Given the description of an element on the screen output the (x, y) to click on. 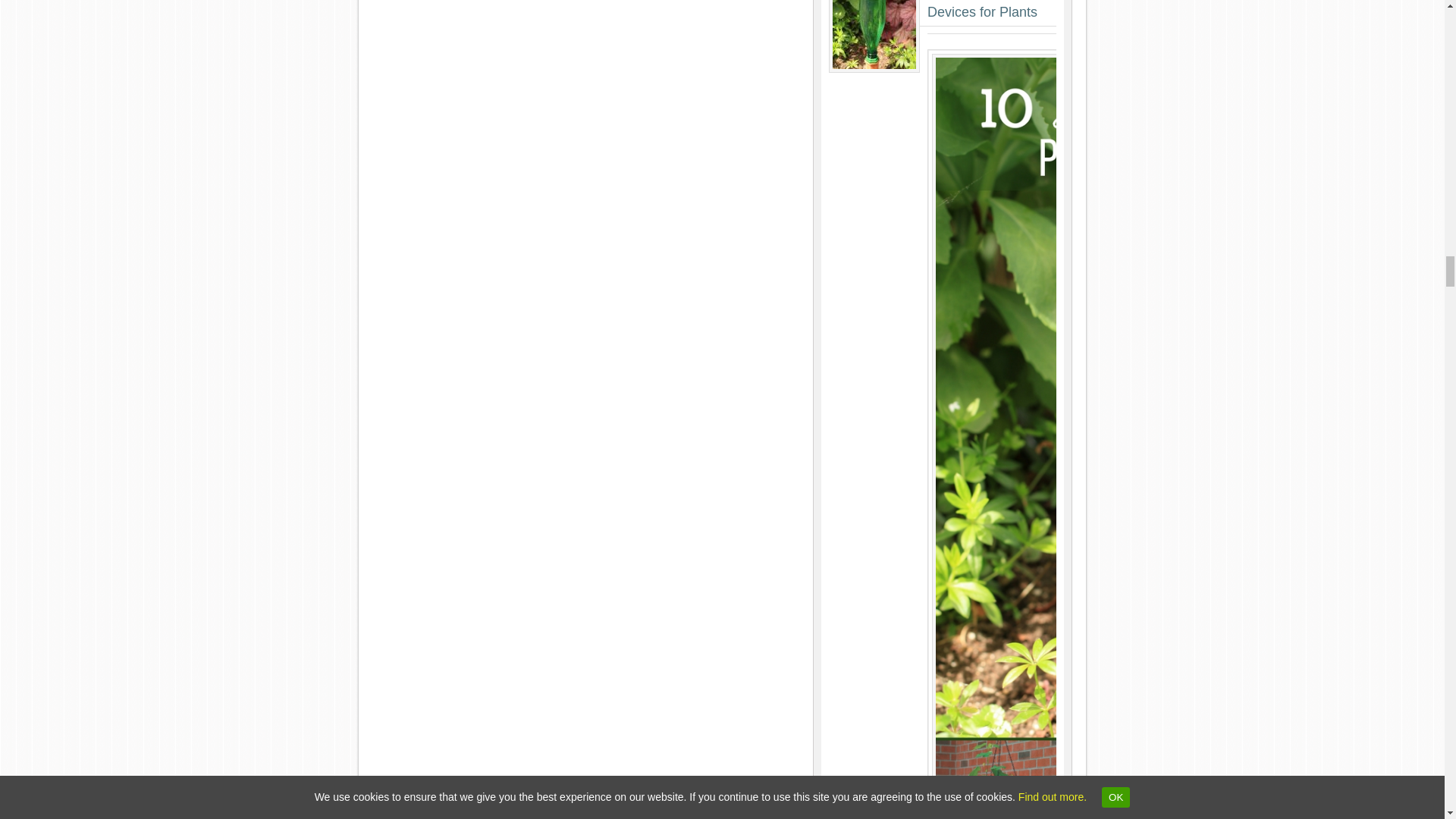
Smart Self-Watering Devices for Plants (988, 9)
